Given the description of an element on the screen output the (x, y) to click on. 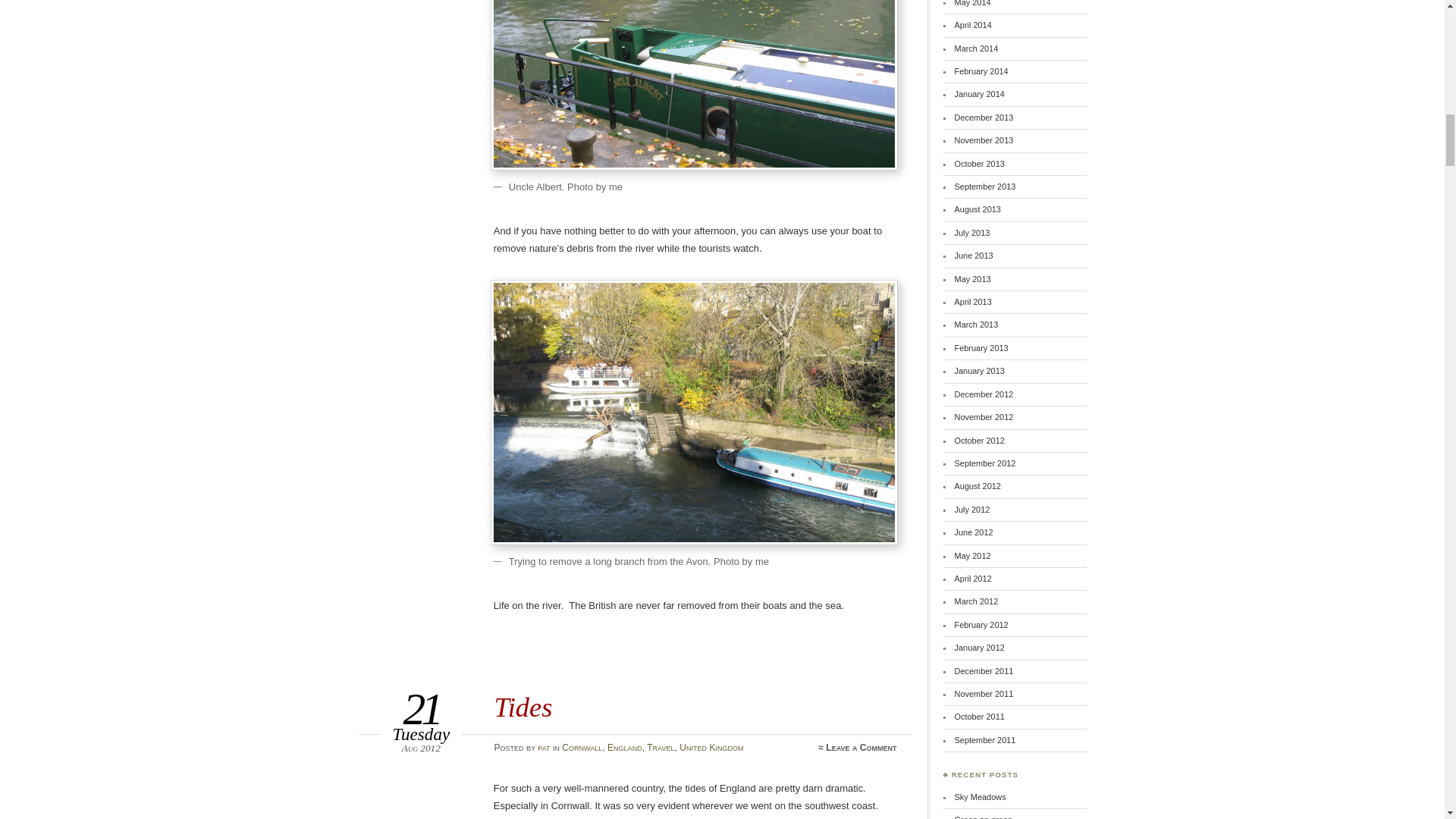
Leave a Comment (860, 747)
England (624, 747)
Tides (522, 706)
Permalink to Tides (522, 706)
Travel (660, 747)
United Kingdom (710, 747)
View all posts by pat (543, 747)
pat (543, 747)
Cornwall (582, 747)
